Given the description of an element on the screen output the (x, y) to click on. 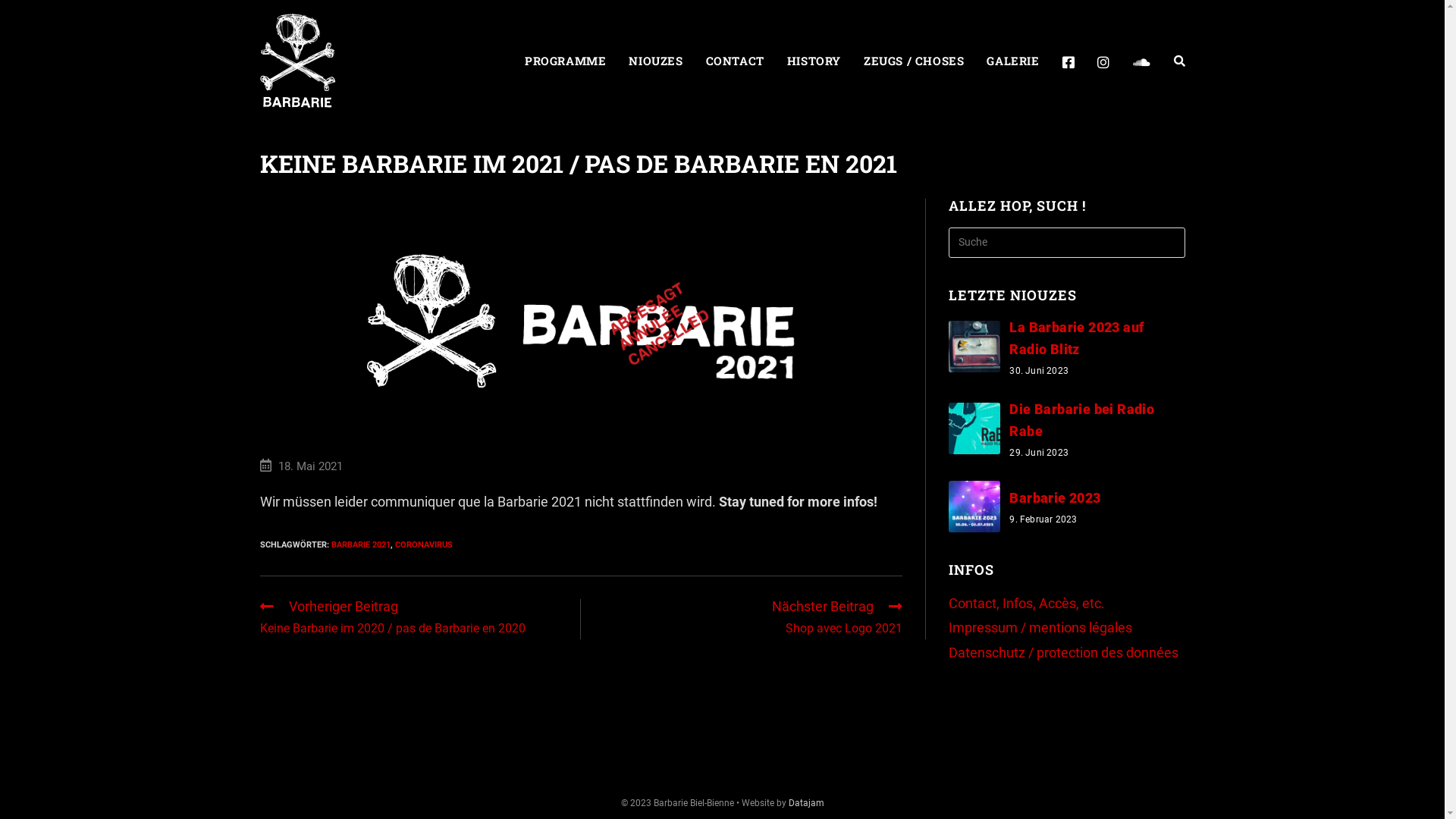
CONTACT Element type: text (734, 60)
ZEUGS / CHOSES Element type: text (913, 60)
BARBARIE 2021 Element type: text (359, 544)
PROGRAMME Element type: text (565, 60)
Barbarie 2023 Element type: hover (974, 506)
Die Barbarie bei Radio Rabe Element type: hover (974, 428)
Barbarie 2023 Element type: text (1054, 497)
Die Barbarie bei Radio Rabe Element type: text (1081, 420)
GALERIE Element type: text (1012, 60)
TOGGLE WEBSITE SEARCH Element type: text (1178, 60)
La Barbarie 2023 auf Radio Blitz Element type: hover (974, 346)
NIOUZES Element type: text (655, 60)
CORONAVIRUS Element type: text (422, 544)
HISTORY Element type: text (813, 60)
La Barbarie 2023 auf Radio Blitz Element type: text (1076, 338)
Datajam Element type: text (806, 802)
